Given the description of an element on the screen output the (x, y) to click on. 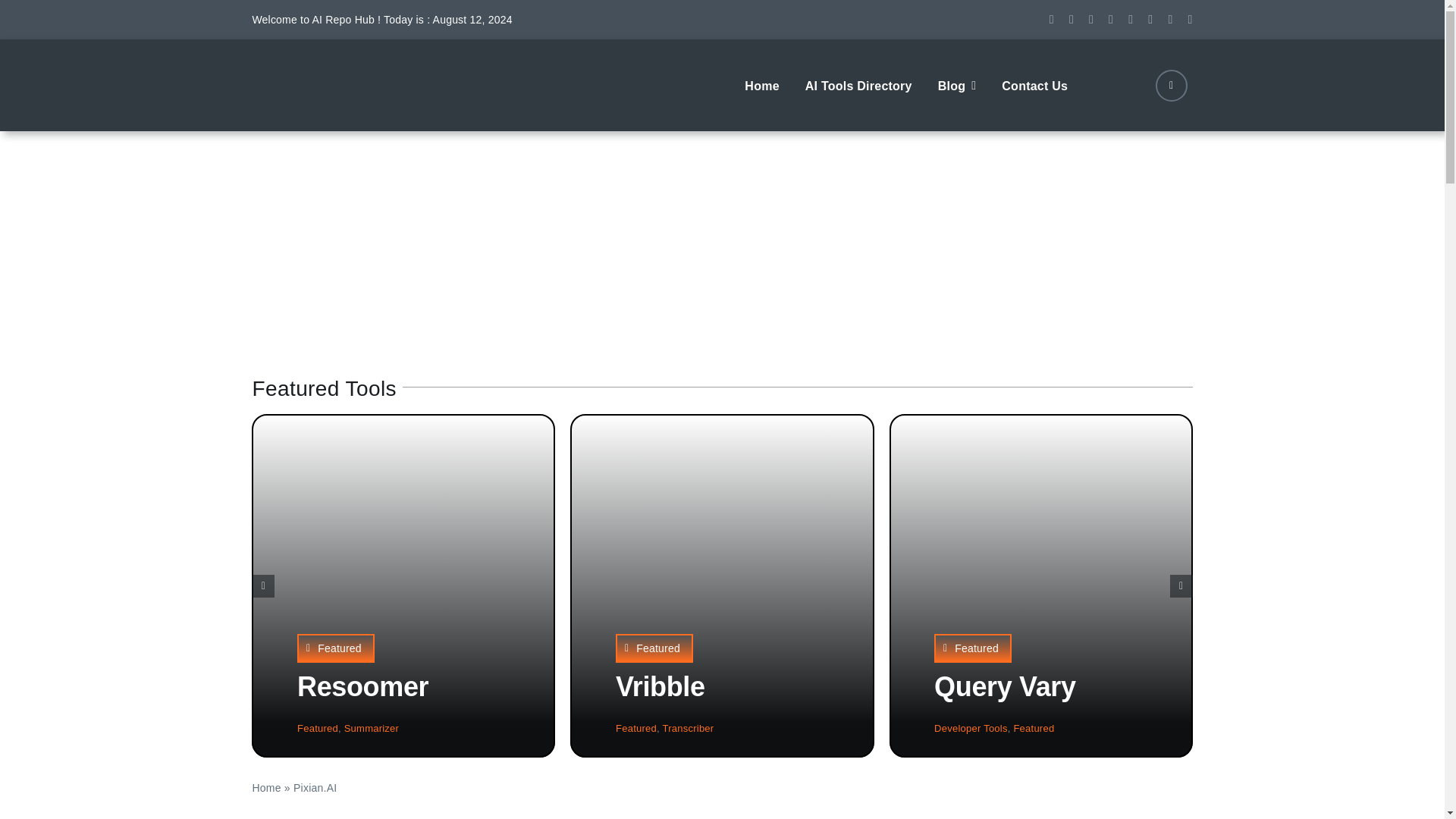
Vribble (659, 685)
Contact Us (1034, 84)
Featured (635, 727)
Featured (972, 647)
Transcriber (688, 727)
Summarizer (370, 727)
Featured (335, 647)
AI Tools Directory (858, 84)
Resoomer (362, 685)
